Given the description of an element on the screen output the (x, y) to click on. 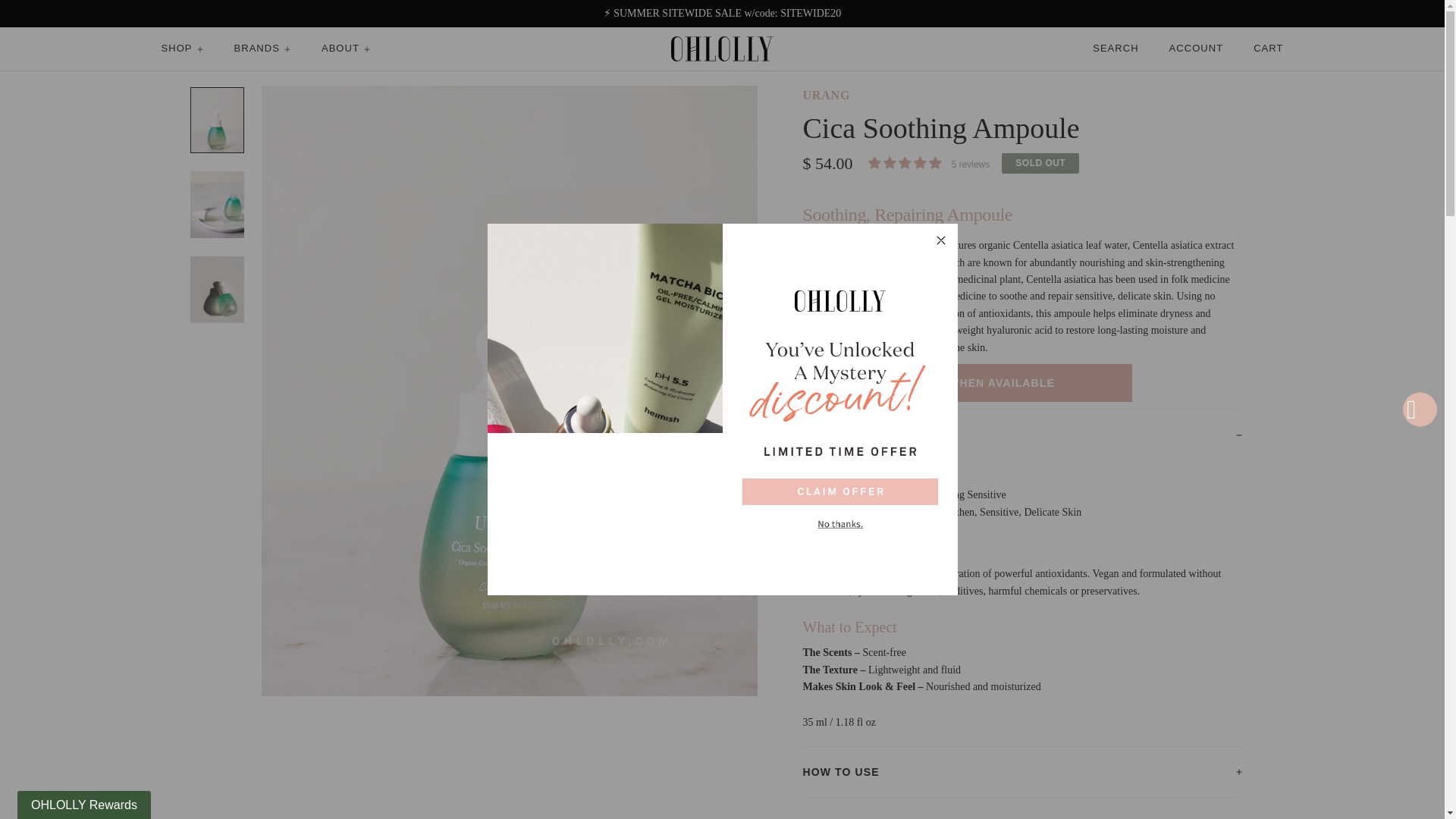
OHLOLLY (722, 48)
NOTIFY ME WHEN AVAILABLE (966, 382)
ACCOUNT (1196, 48)
Close dialog 1 (940, 239)
CART (1267, 48)
SHOP (181, 48)
SEARCH (1115, 48)
URANG (826, 94)
ABOUT (346, 48)
BRANDS (262, 48)
HOW TO USE (1021, 771)
DETAILS (1021, 434)
